Given the description of an element on the screen output the (x, y) to click on. 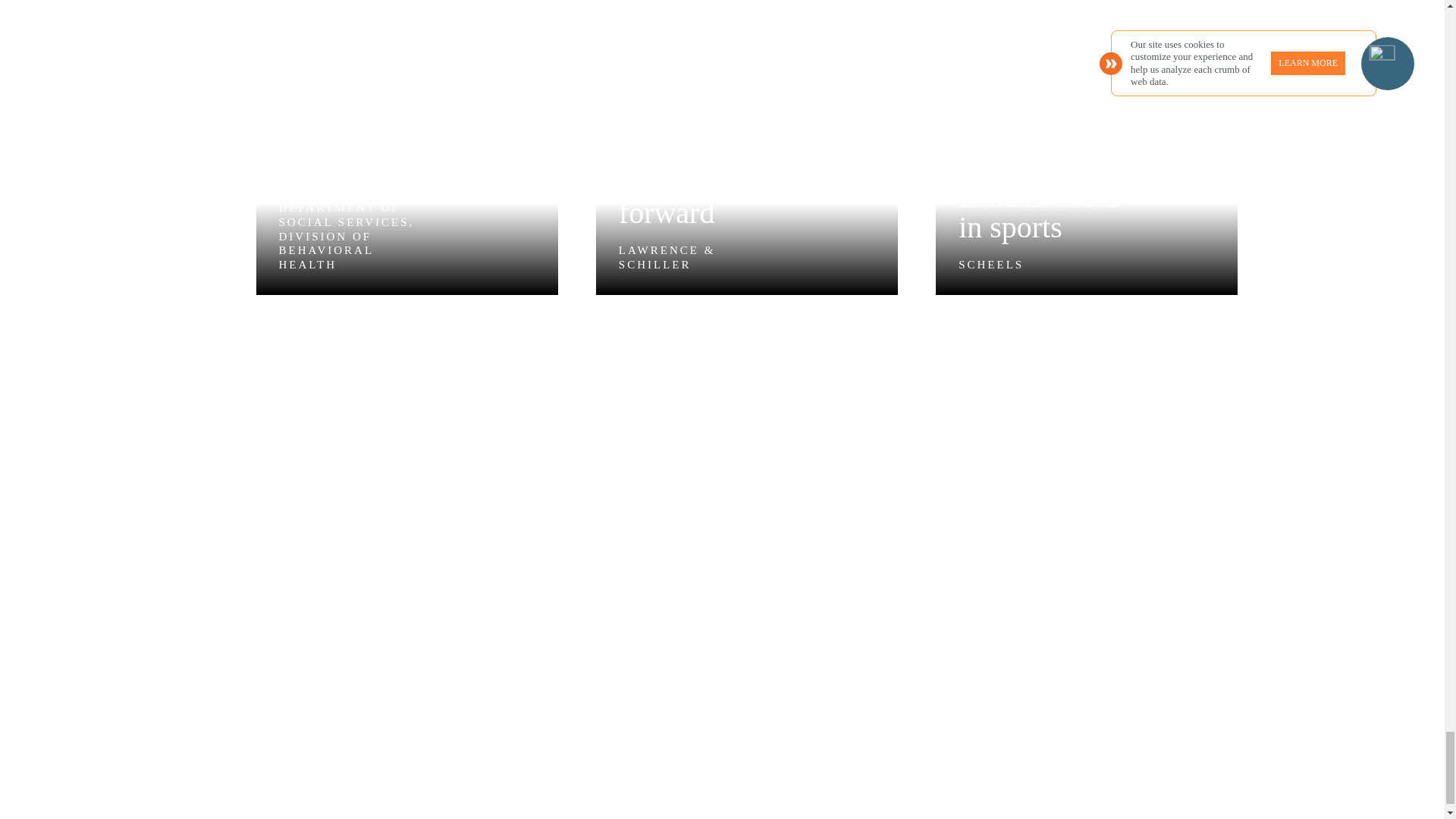
Do the Thing (1086, 147)
